Given the description of an element on the screen output the (x, y) to click on. 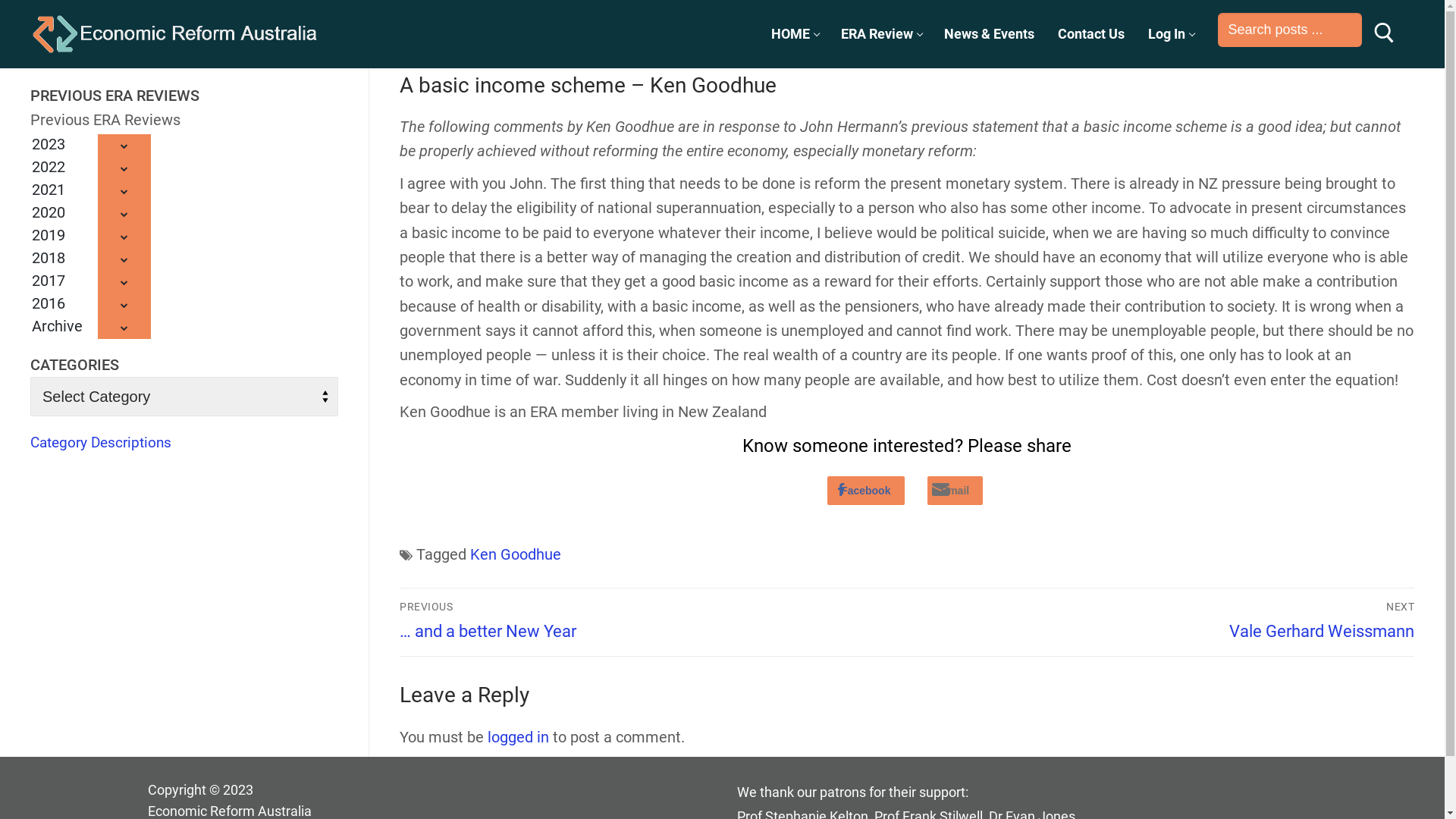
2021 Element type: text (90, 189)
HOME
  Element type: text (794, 34)
2020 Element type: text (90, 211)
Ken Goodhue Element type: text (515, 554)
ERA Review
  Element type: text (880, 34)
2022 Element type: text (90, 166)
Category Descriptions Element type: text (100, 442)
2018 Element type: text (90, 257)
Email Element type: text (955, 490)
2017 Element type: text (90, 280)
Facebook Element type: text (865, 490)
logged in Element type: text (518, 737)
News & Events Element type: text (989, 34)
Log In
  Element type: text (1170, 34)
Search for: Element type: hover (1289, 29)
2016 Element type: text (90, 302)
2019 Element type: text (90, 234)
2023 Element type: text (90, 143)
NEXT
Vale Gerhard Weissmann Element type: text (1165, 620)
Contact Us Element type: text (1091, 34)
Archive Element type: text (90, 325)
